Given the description of an element on the screen output the (x, y) to click on. 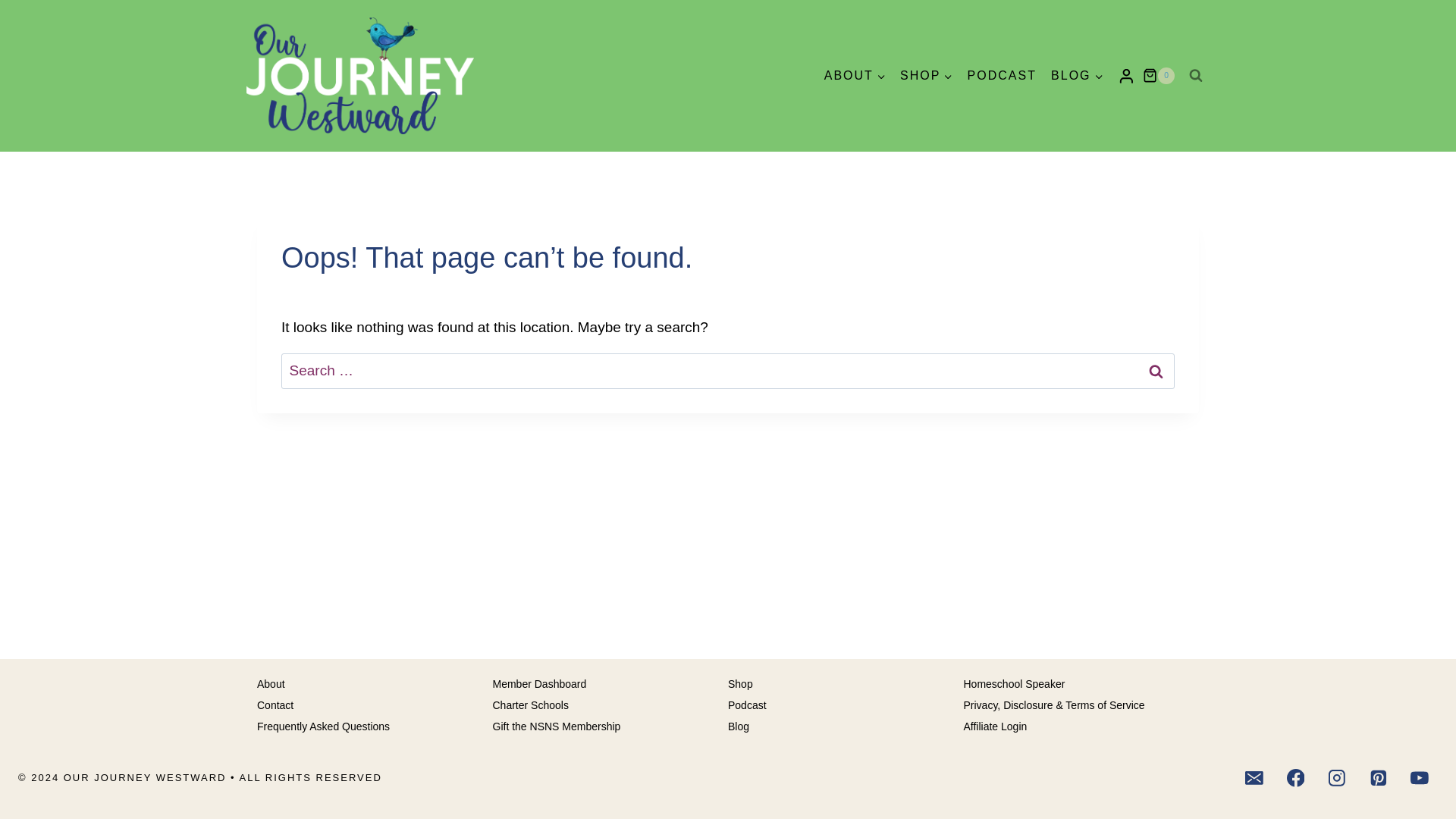
About (375, 684)
Contact (375, 705)
Frequently Asked Questions (375, 726)
Podcast (845, 705)
ABOUT (854, 75)
Charter Schools (611, 705)
Shop (845, 684)
0 (1158, 75)
PODCAST (1001, 75)
Member Dashboard (611, 684)
